Given the description of an element on the screen output the (x, y) to click on. 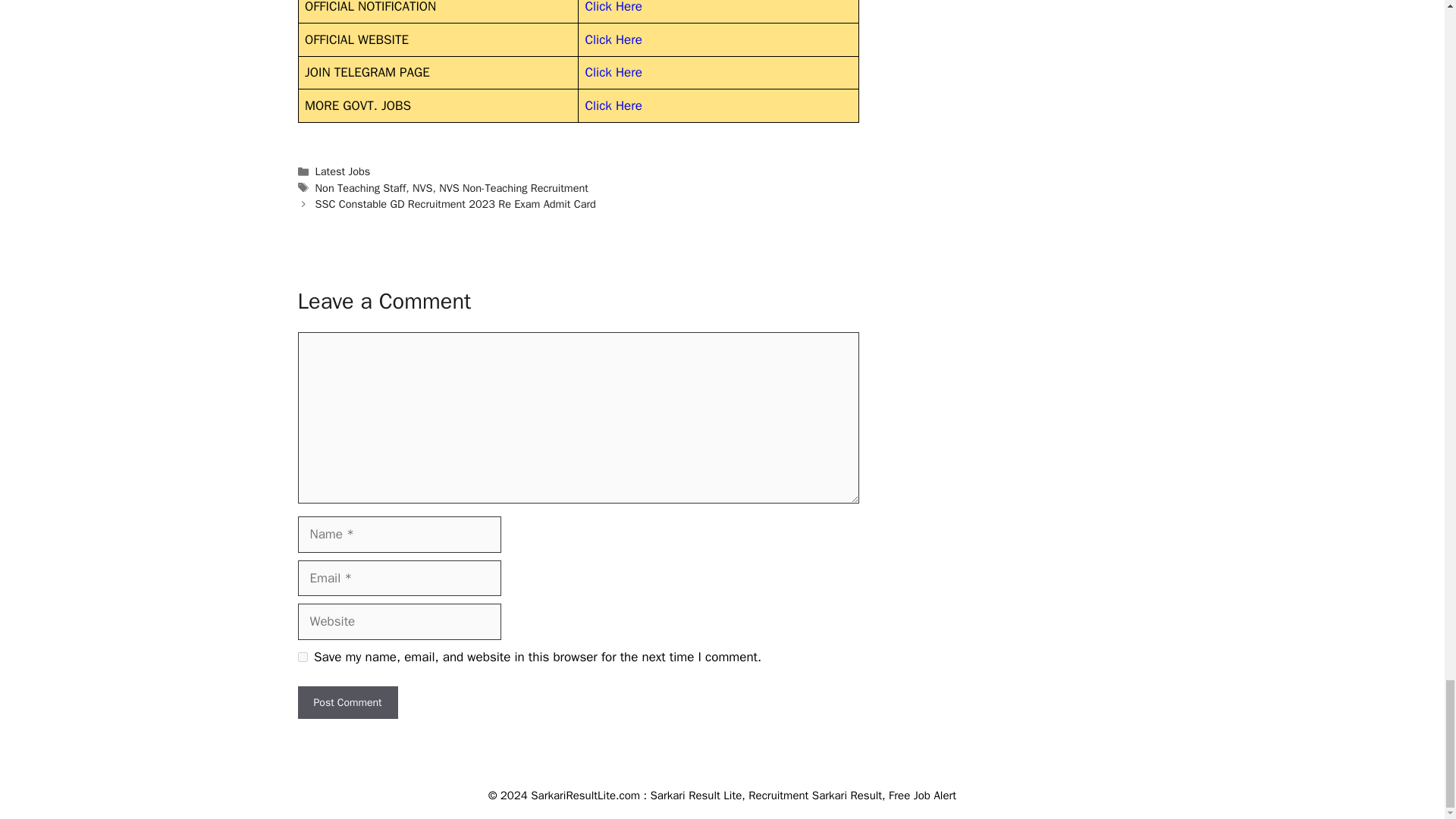
Non Teaching Staff (360, 187)
SSC Constable GD Recruitment 2023 Re Exam Admit Card (455, 203)
Latest Jobs (343, 171)
Post Comment (347, 702)
NVS (422, 187)
NVS Non-Teaching Recruitment (513, 187)
Post Comment (347, 702)
yes (302, 656)
